Given the description of an element on the screen output the (x, y) to click on. 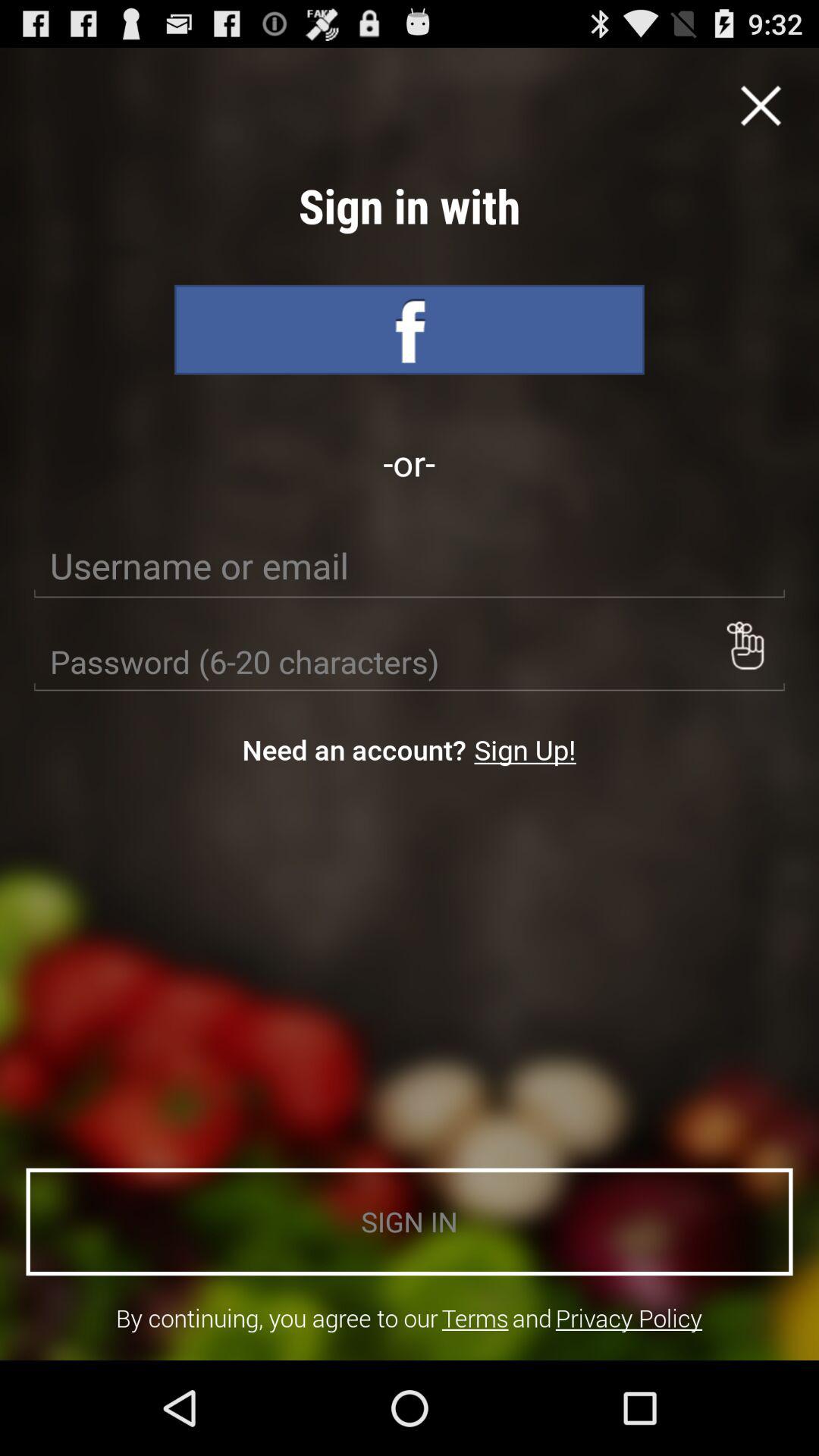
enter username (409, 566)
